Given the description of an element on the screen output the (x, y) to click on. 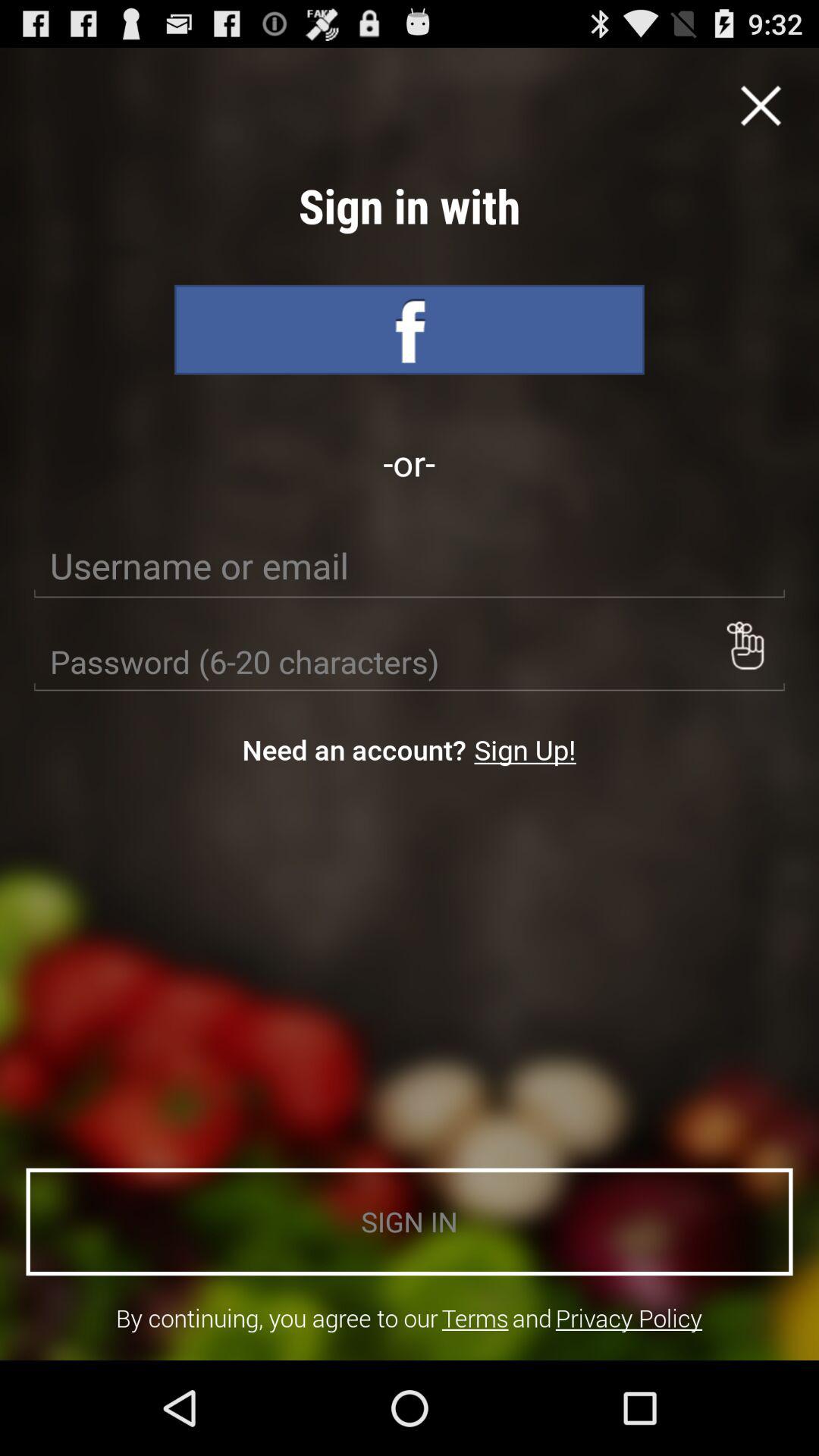
enter username (409, 566)
